Given the description of an element on the screen output the (x, y) to click on. 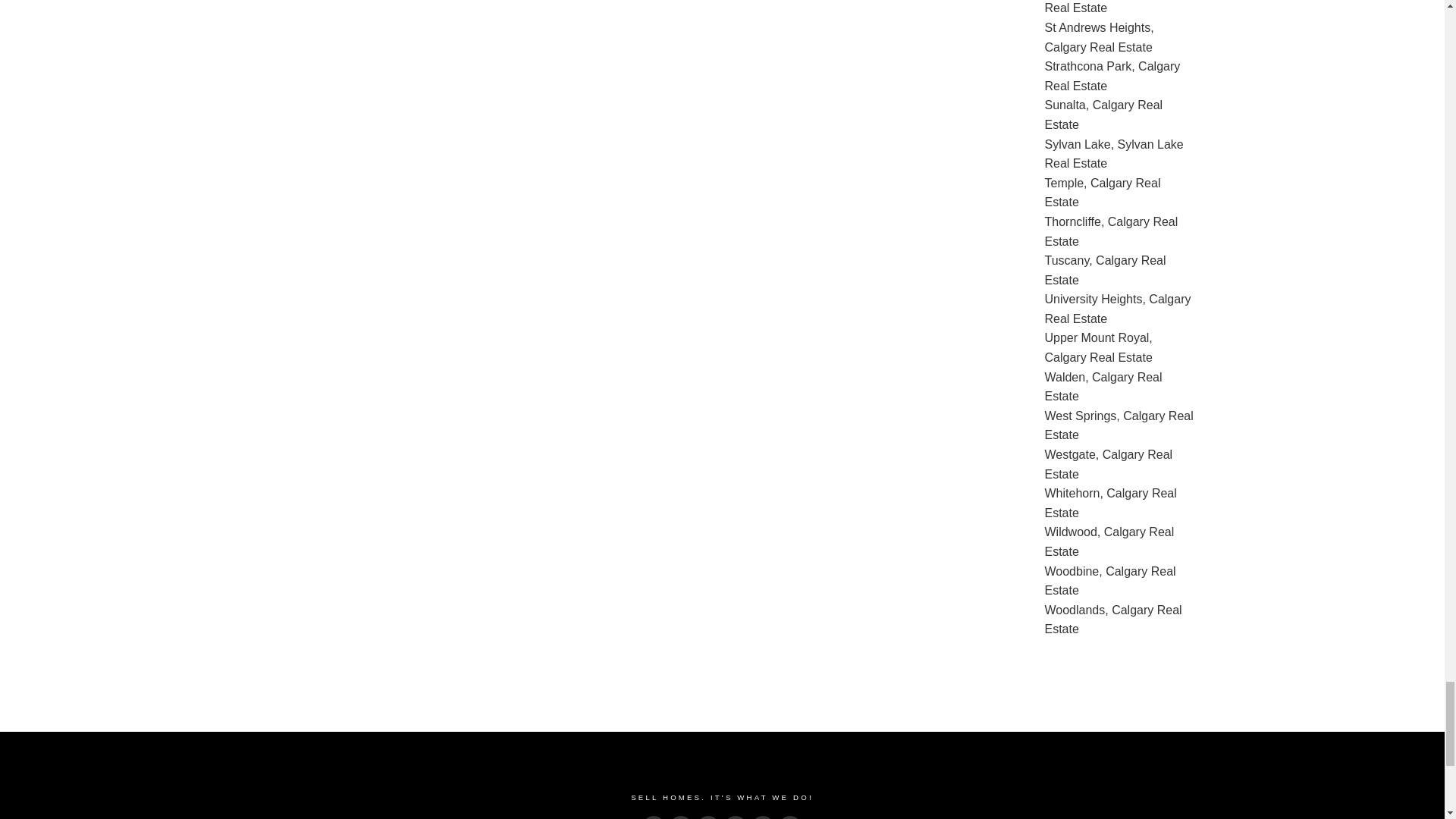
Twitter (680, 817)
Rank My Agent (735, 817)
Blog (789, 817)
YouTube (762, 817)
linkedin (708, 817)
Facebook (653, 817)
